Given the description of an element on the screen output the (x, y) to click on. 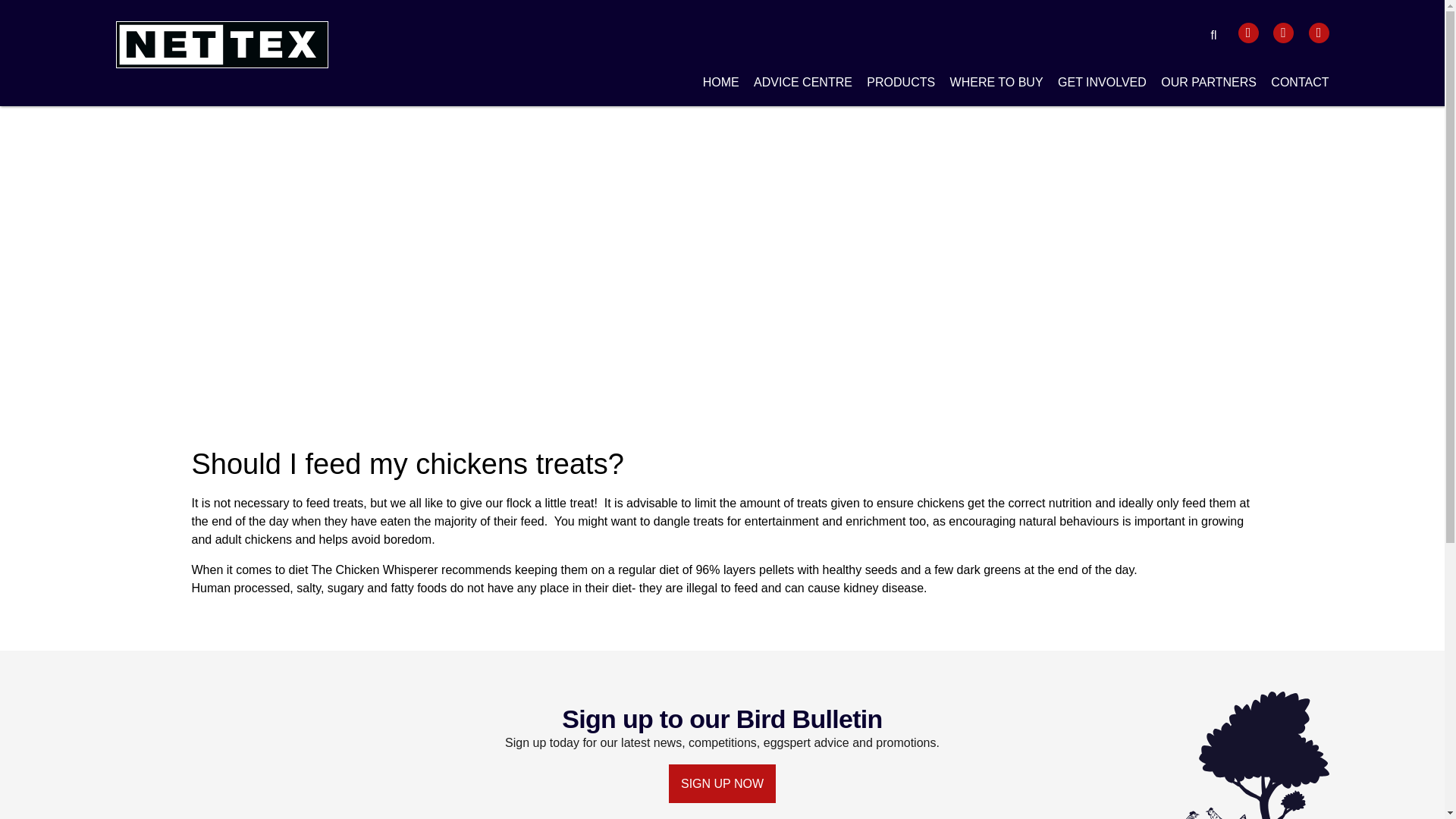
ADVICE CENTRE (802, 84)
OUR PARTNERS (1208, 84)
PRODUCTS (900, 84)
HOME (721, 84)
GET INVOLVED (1102, 84)
WHERE TO BUY (996, 84)
